Given the description of an element on the screen output the (x, y) to click on. 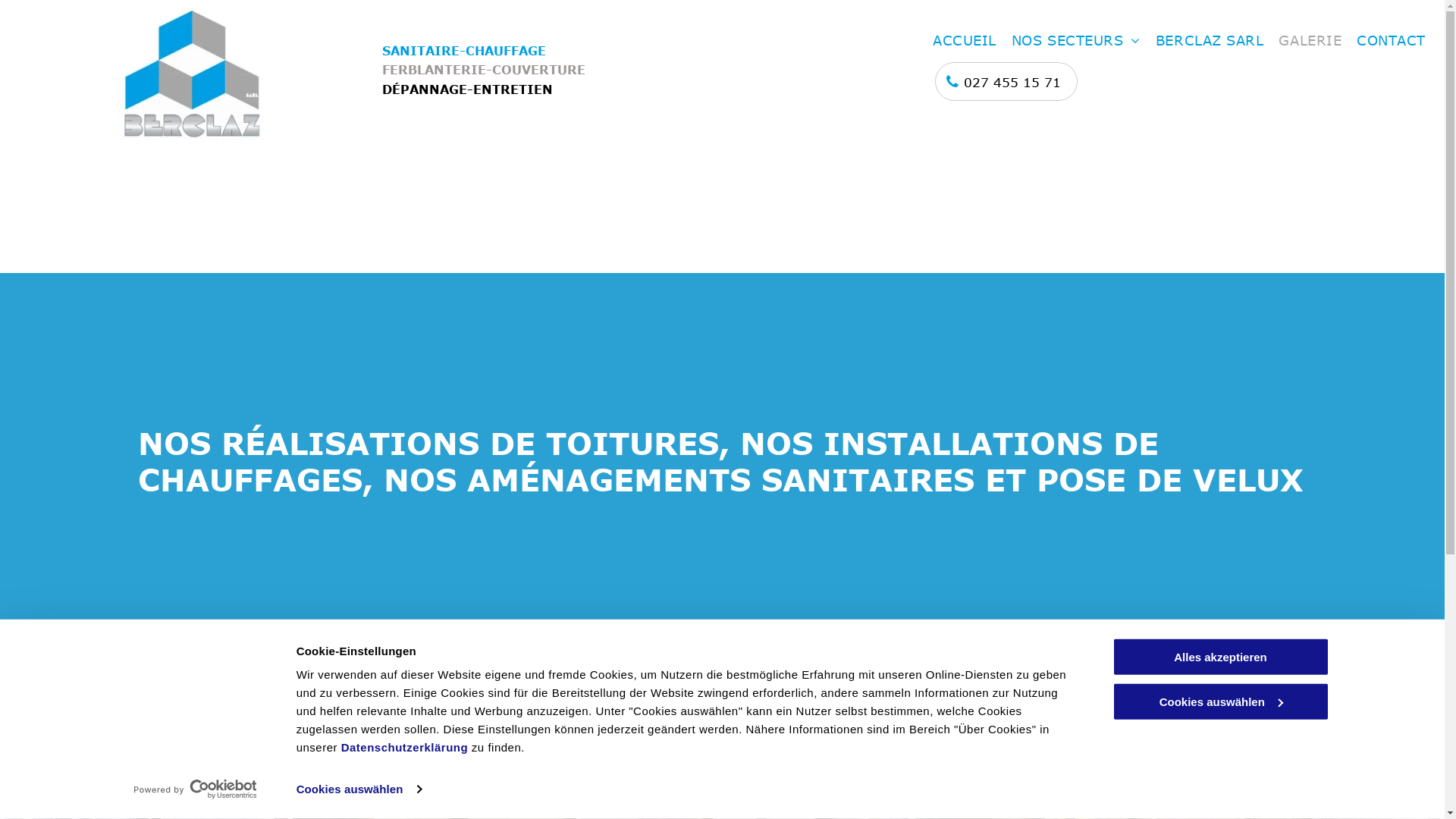
NOS SECTEURS Element type: text (1075, 40)
GALERIE Element type: text (1309, 40)
Alles akzeptieren Element type: text (1219, 656)
CONTACT Element type: text (1390, 40)
ACCUEIL Element type: text (964, 40)
BERCLAZ SARL Element type: text (1209, 40)
027 455 15 71 Element type: text (1005, 81)
